Given the description of an element on the screen output the (x, y) to click on. 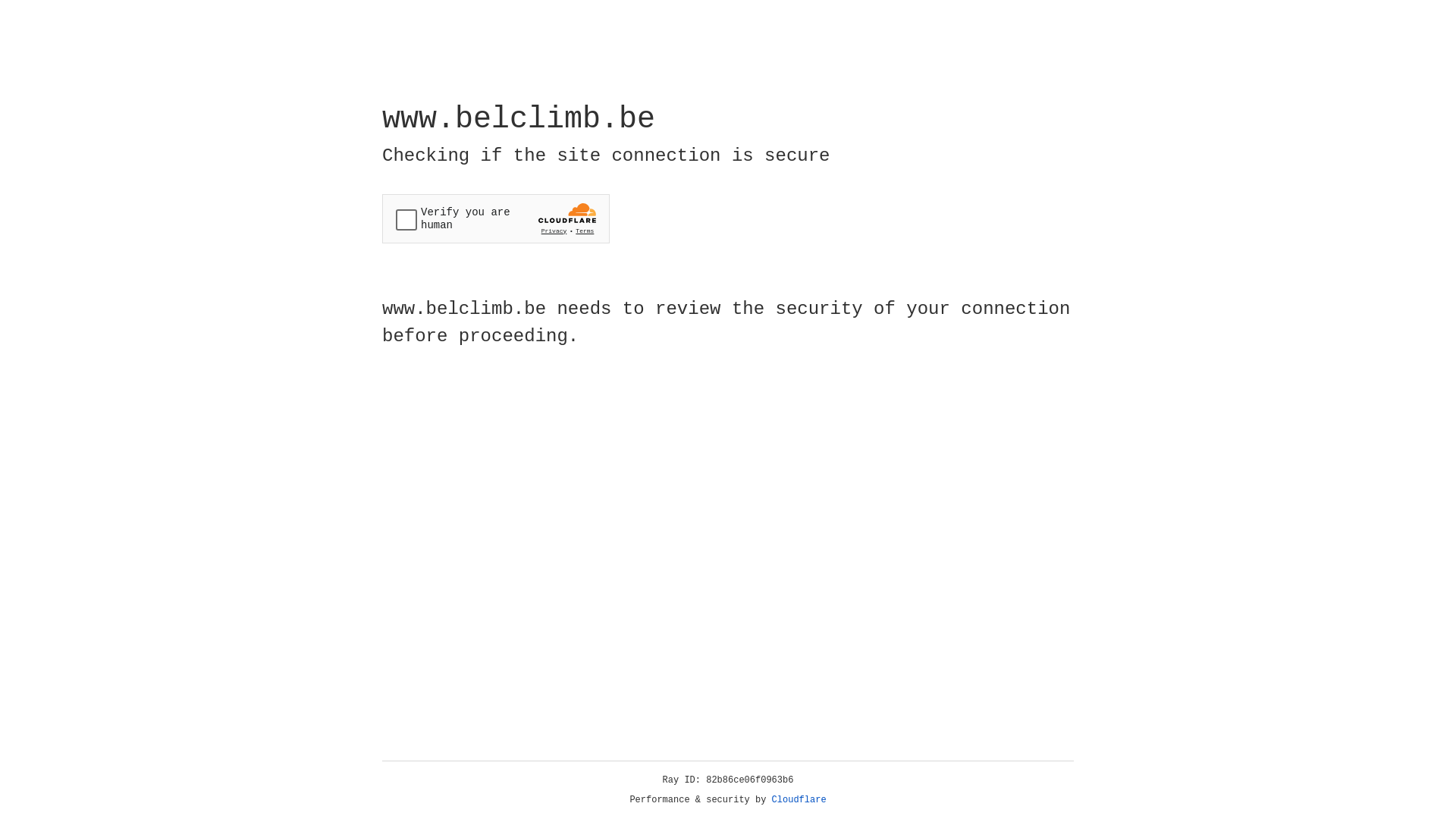
Widget containing a Cloudflare security challenge Element type: hover (495, 218)
Cloudflare Element type: text (798, 799)
